Given the description of an element on the screen output the (x, y) to click on. 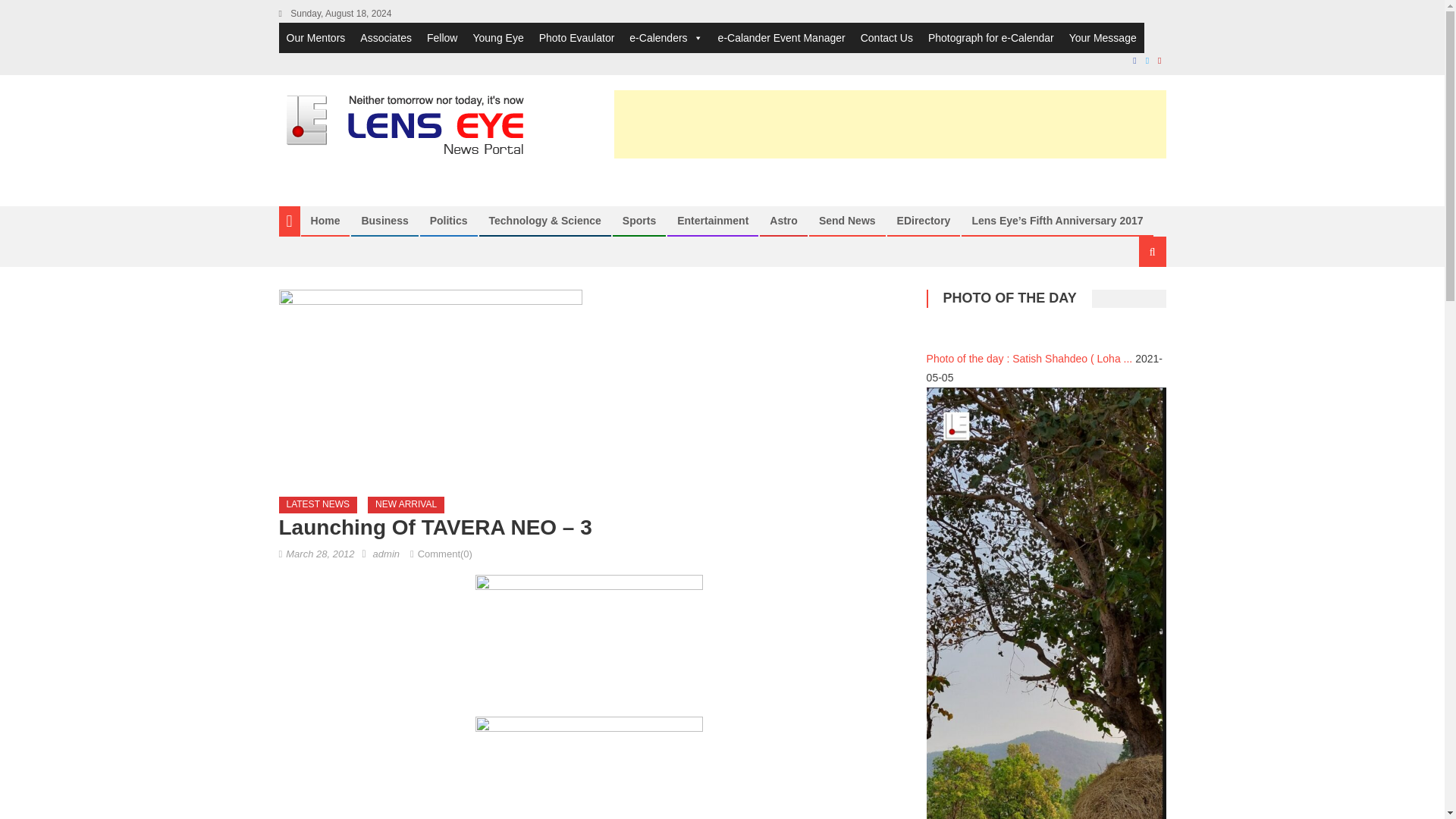
Young Eye (497, 37)
Fellow (441, 37)
Astro (783, 220)
Advertisement (890, 124)
Photograph for e-Calendar (990, 37)
Politics (448, 220)
Contact Us (886, 37)
March 28, 2012 (319, 553)
Your Message (1102, 37)
admin (385, 553)
